Given the description of an element on the screen output the (x, y) to click on. 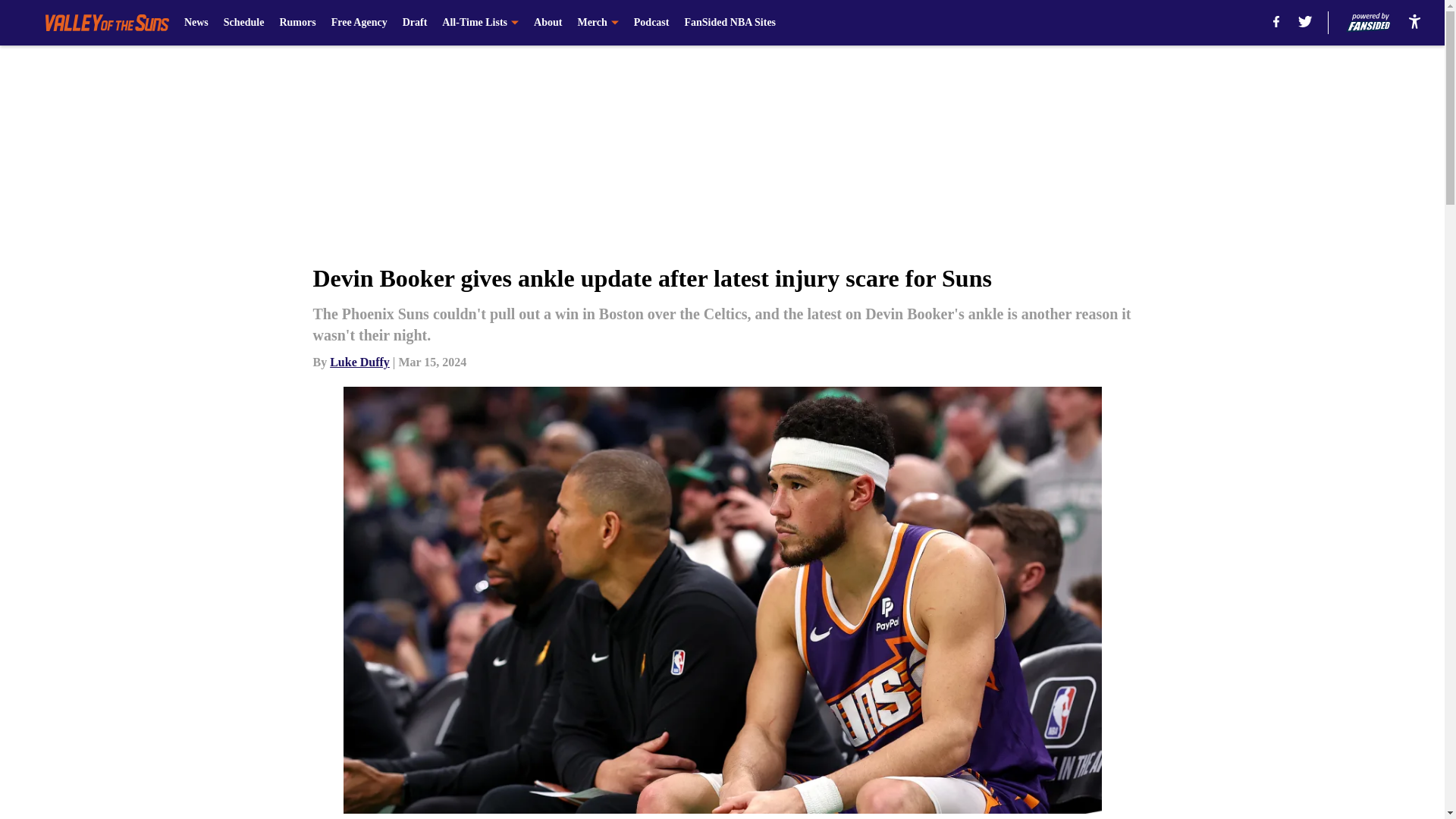
Podcast (651, 22)
Luke Duffy (360, 361)
About (548, 22)
Rumors (297, 22)
Free Agency (359, 22)
Schedule (244, 22)
Draft (415, 22)
FanSided NBA Sites (730, 22)
Merch (596, 22)
News (196, 22)
All-Time Lists (480, 22)
